Given the description of an element on the screen output the (x, y) to click on. 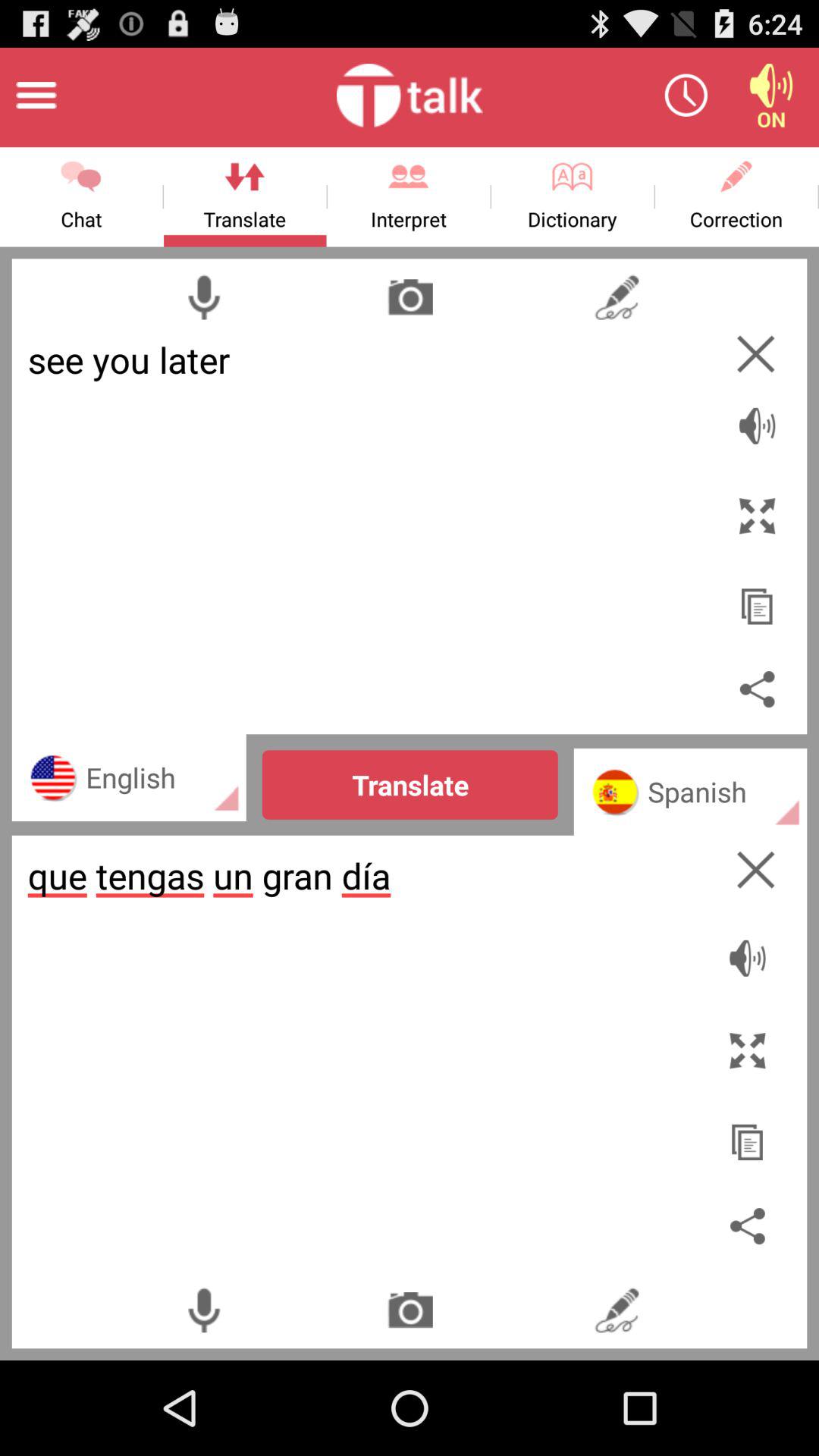
clear (755, 353)
